Given the description of an element on the screen output the (x, y) to click on. 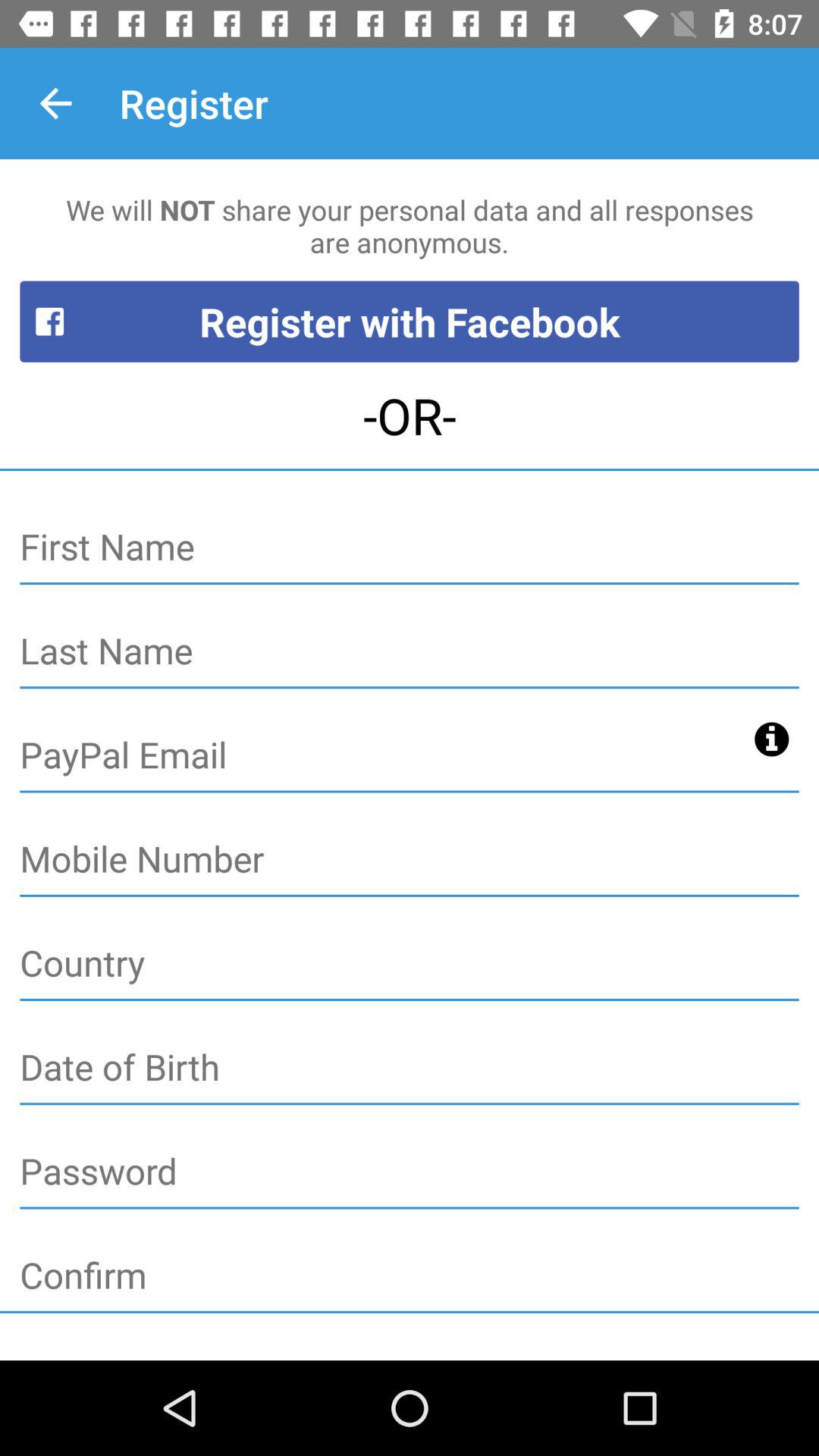
choose the item to the left of the register item (55, 103)
